Given the description of an element on the screen output the (x, y) to click on. 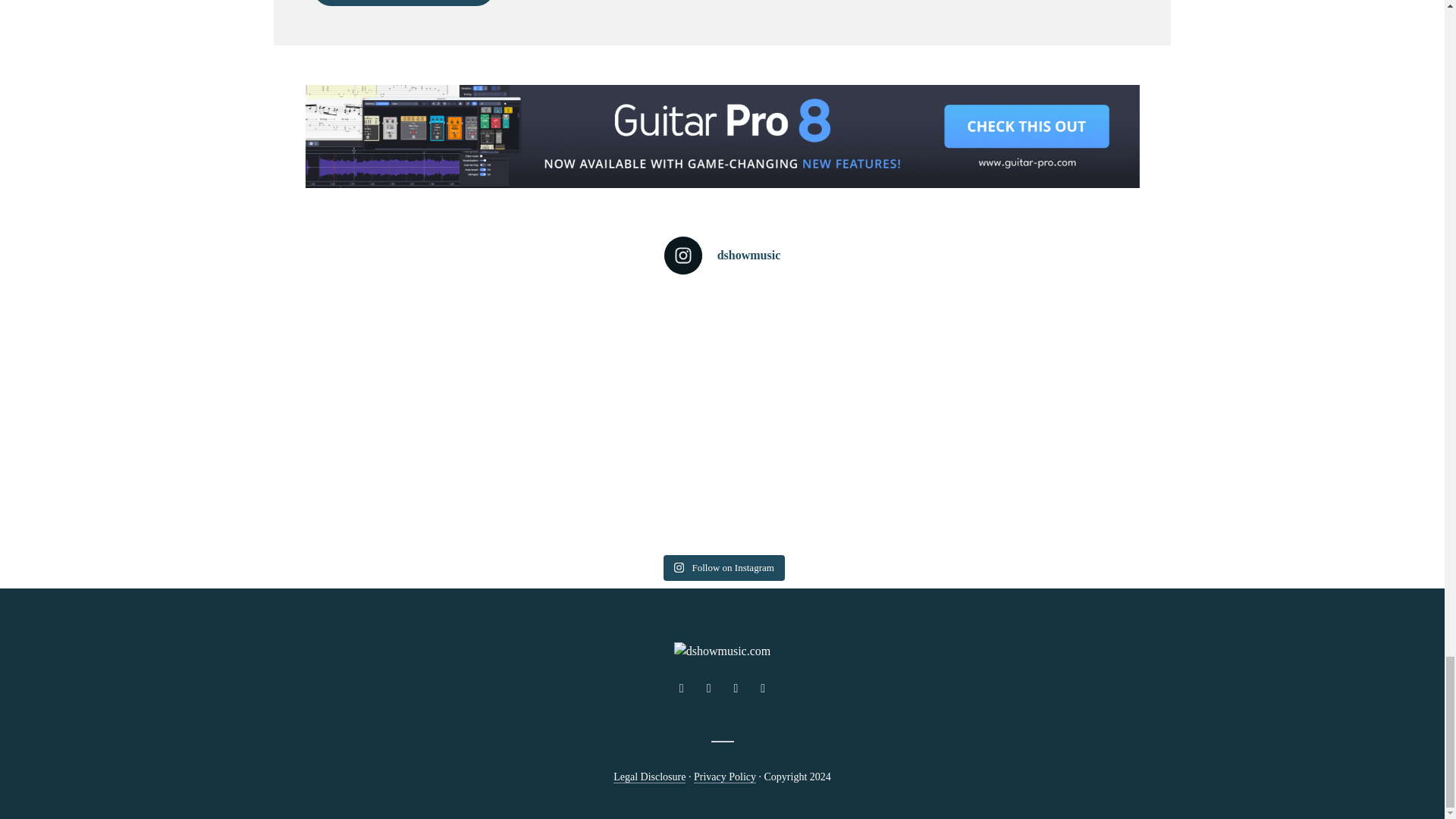
Submit Comment (404, 3)
